Given the description of an element on the screen output the (x, y) to click on. 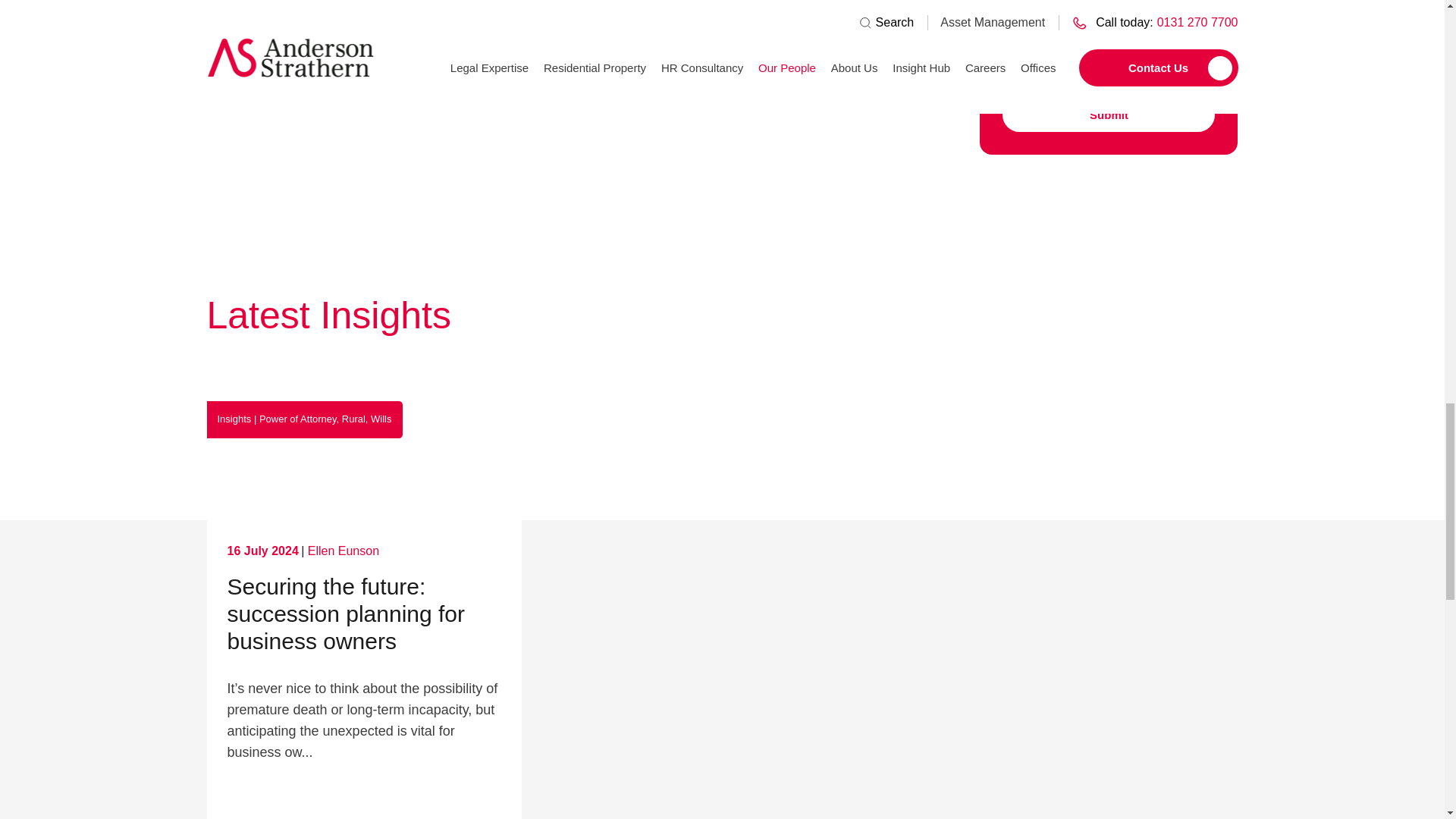
Submit (1108, 114)
